Given the description of an element on the screen output the (x, y) to click on. 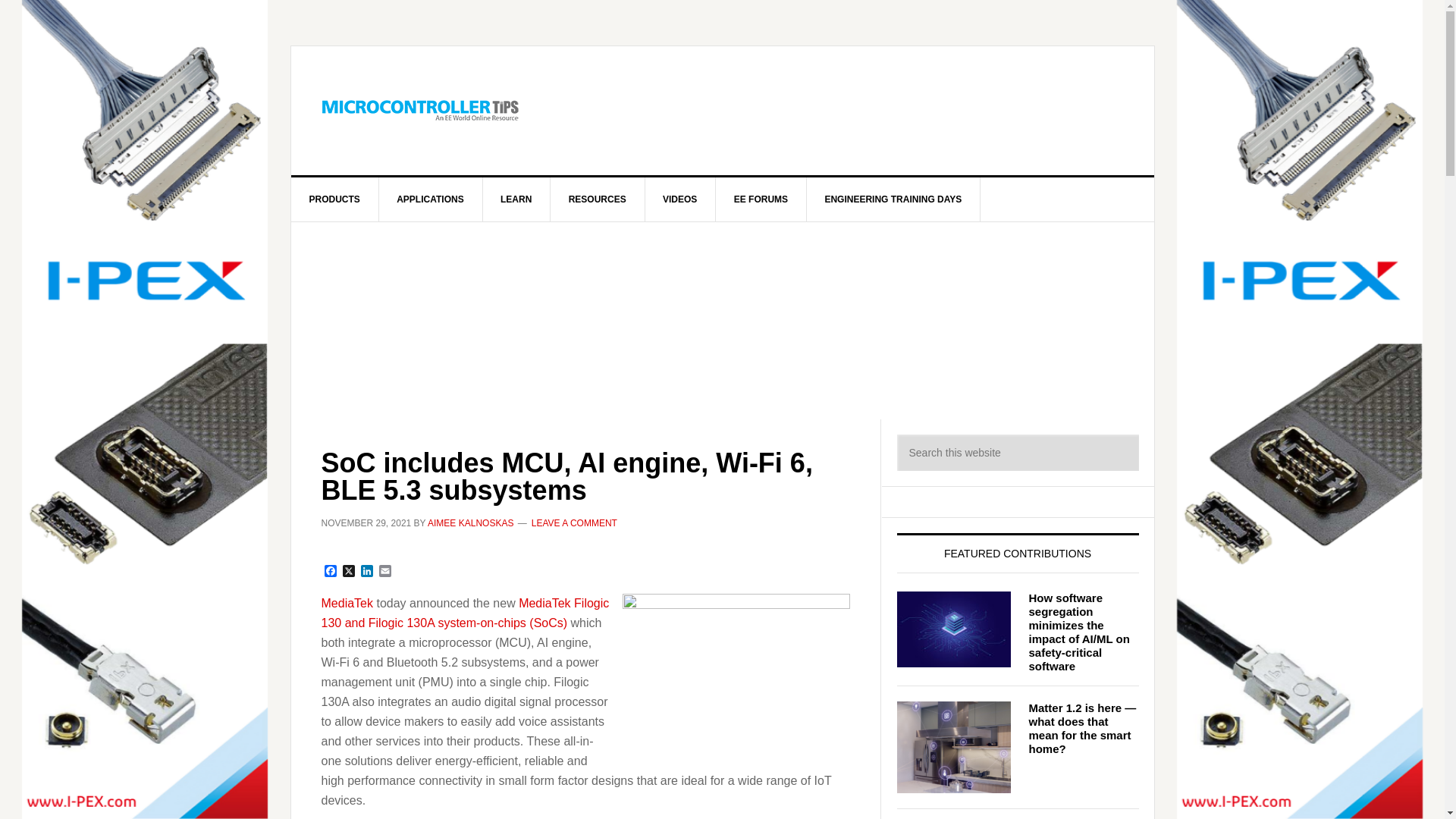
LinkedIn (366, 572)
PRODUCTS (334, 199)
Email (384, 572)
MICROCONTROLLER TIPS (419, 110)
APPLICATIONS (429, 199)
RESOURCES (597, 199)
X (348, 572)
Facebook (330, 572)
LEARN (515, 199)
